Given the description of an element on the screen output the (x, y) to click on. 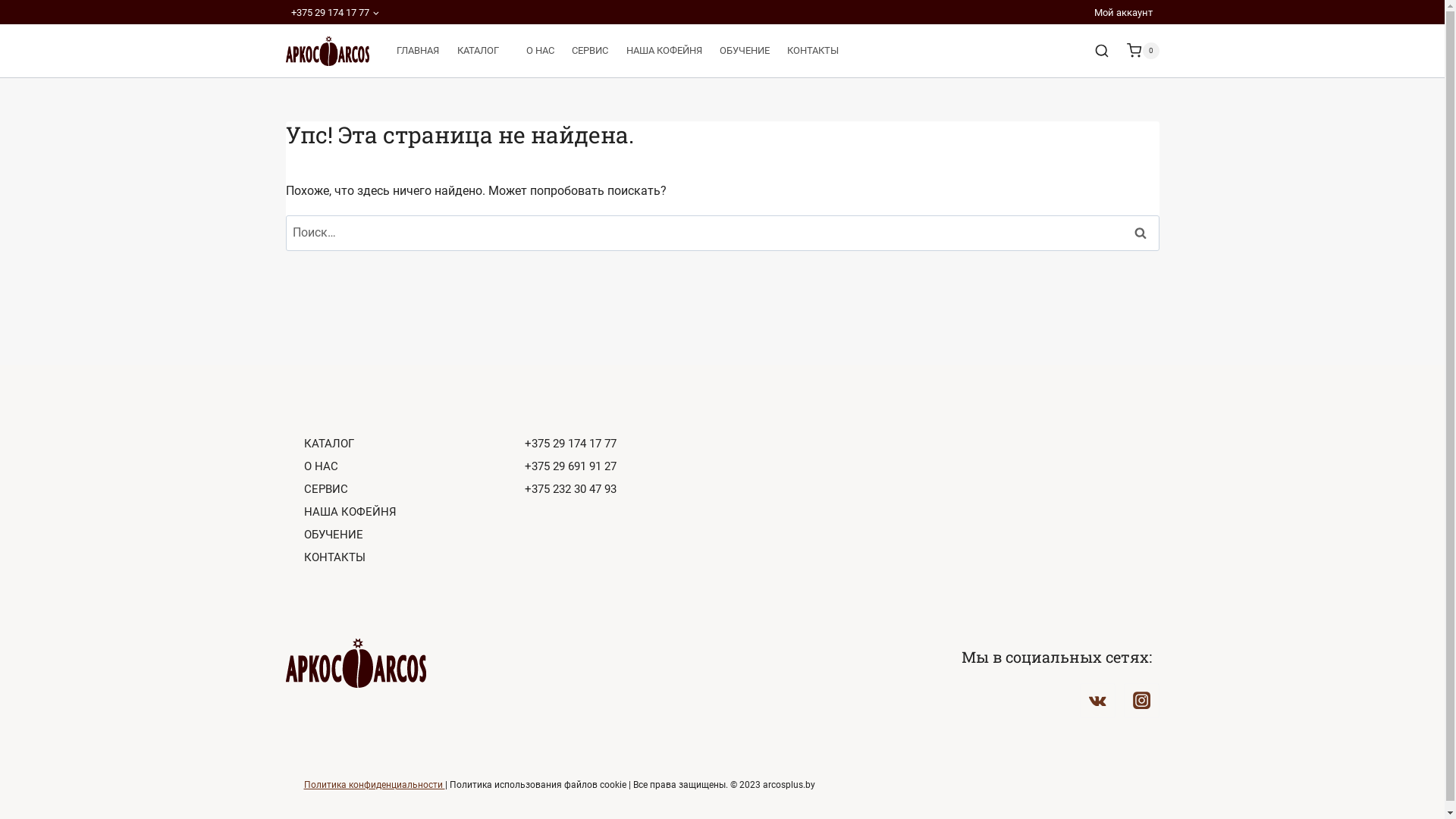
0 Element type: text (1142, 49)
+375 232 30 47 93 Element type: text (623, 489)
+375 29 174 17 77 Element type: text (335, 12)
+375 29 174 17 77 Element type: text (623, 444)
+375 29 691 91 27 Element type: text (623, 466)
